Given the description of an element on the screen output the (x, y) to click on. 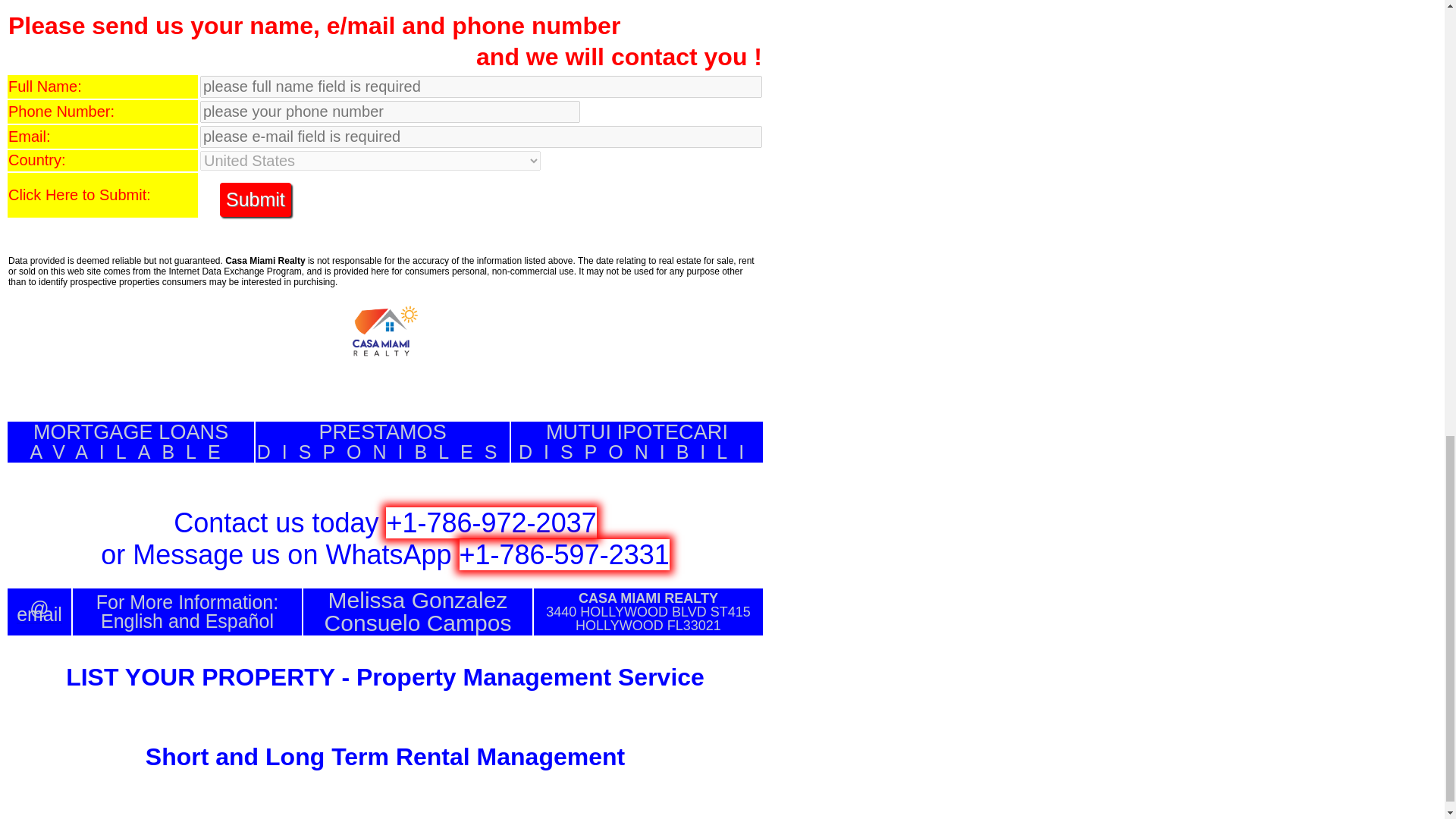
Submit (255, 199)
Submit (130, 441)
Spanish (255, 199)
